Given the description of an element on the screen output the (x, y) to click on. 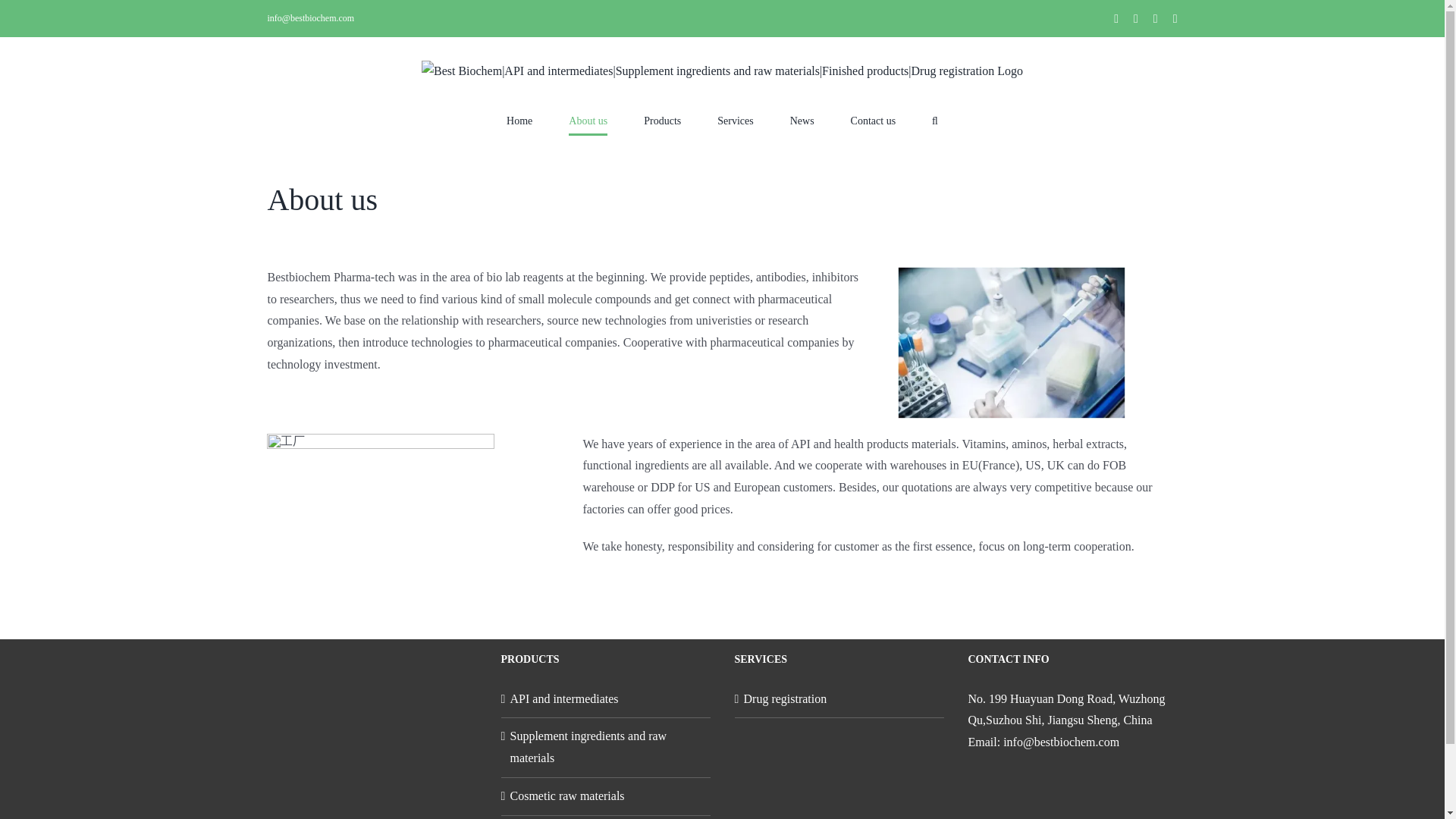
Contact us (873, 121)
Home (519, 121)
Services (734, 121)
About us (588, 121)
Products (662, 121)
